Given the description of an element on the screen output the (x, y) to click on. 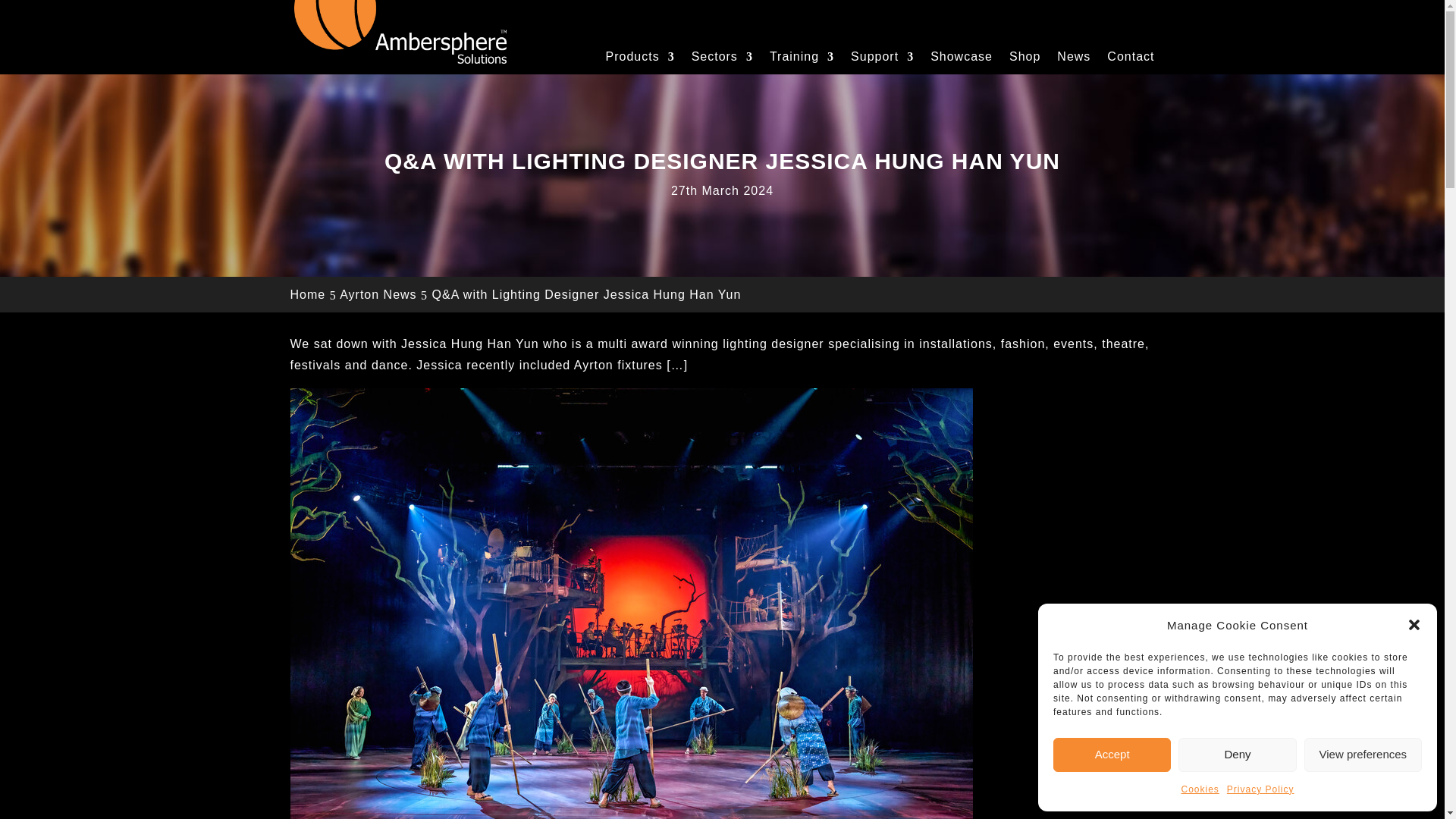
Accept (1111, 754)
Cookies (1199, 789)
View preferences (1363, 754)
Sectors (721, 57)
Products (639, 57)
Support (882, 57)
Training (802, 57)
Privacy Policy (1260, 789)
Deny (1236, 754)
